Given the description of an element on the screen output the (x, y) to click on. 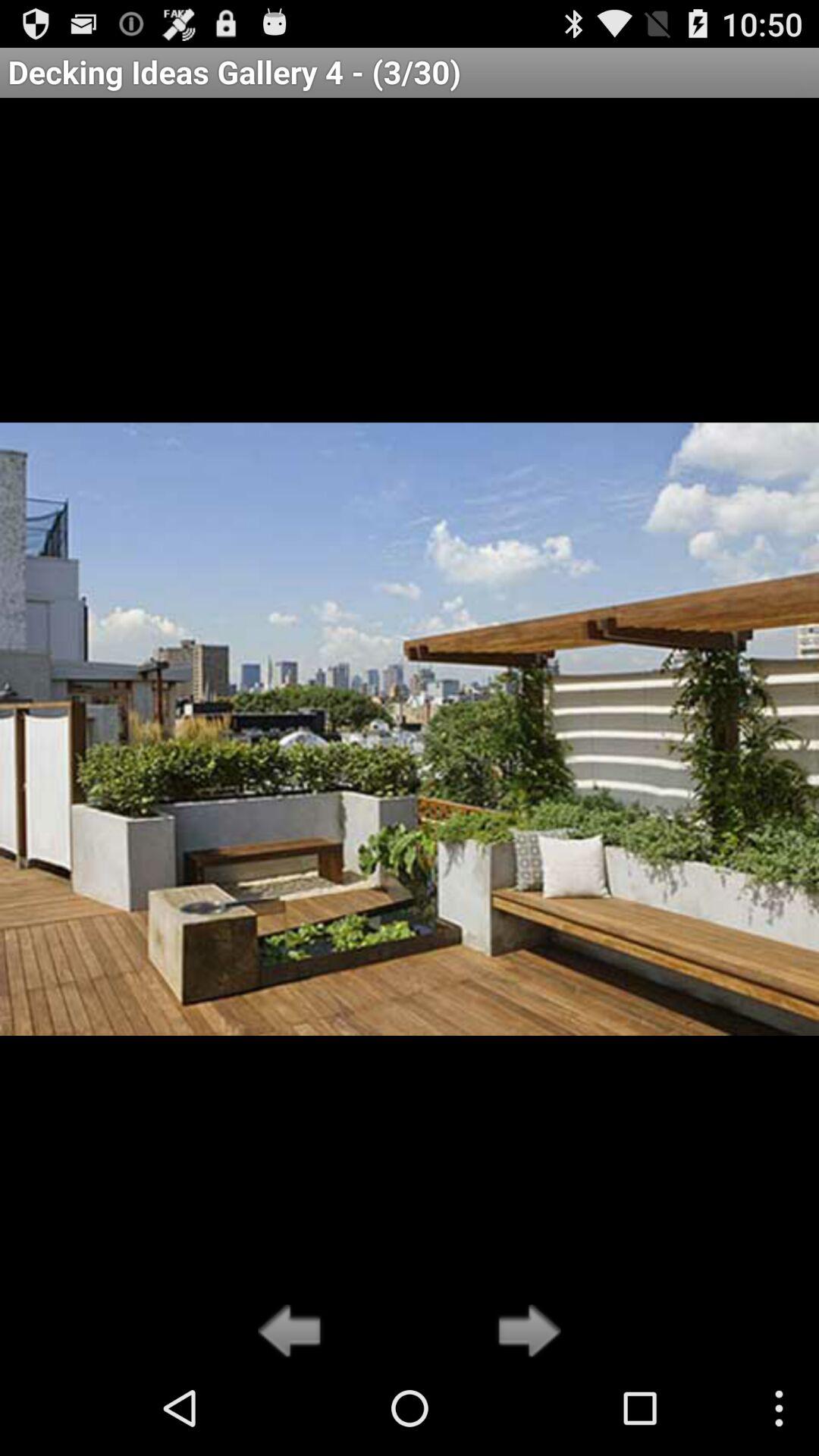
choose the icon below decking ideas gallery icon (524, 1332)
